Given the description of an element on the screen output the (x, y) to click on. 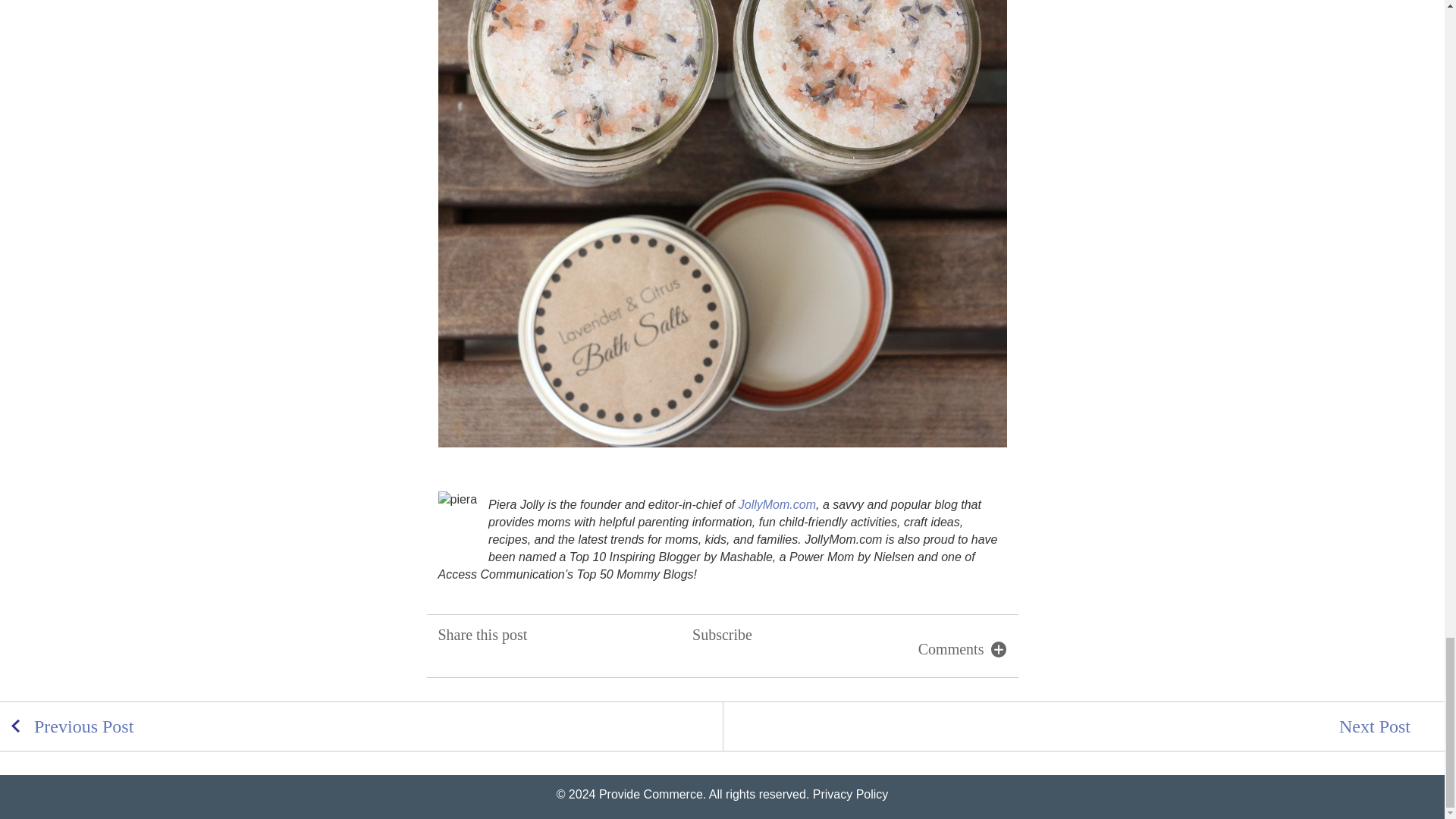
Next Post (1082, 726)
Privacy Policy (850, 793)
Previous Post (361, 726)
Comments (957, 649)
JollyMom.com (776, 504)
Subscribe (721, 657)
